Given the description of an element on the screen output the (x, y) to click on. 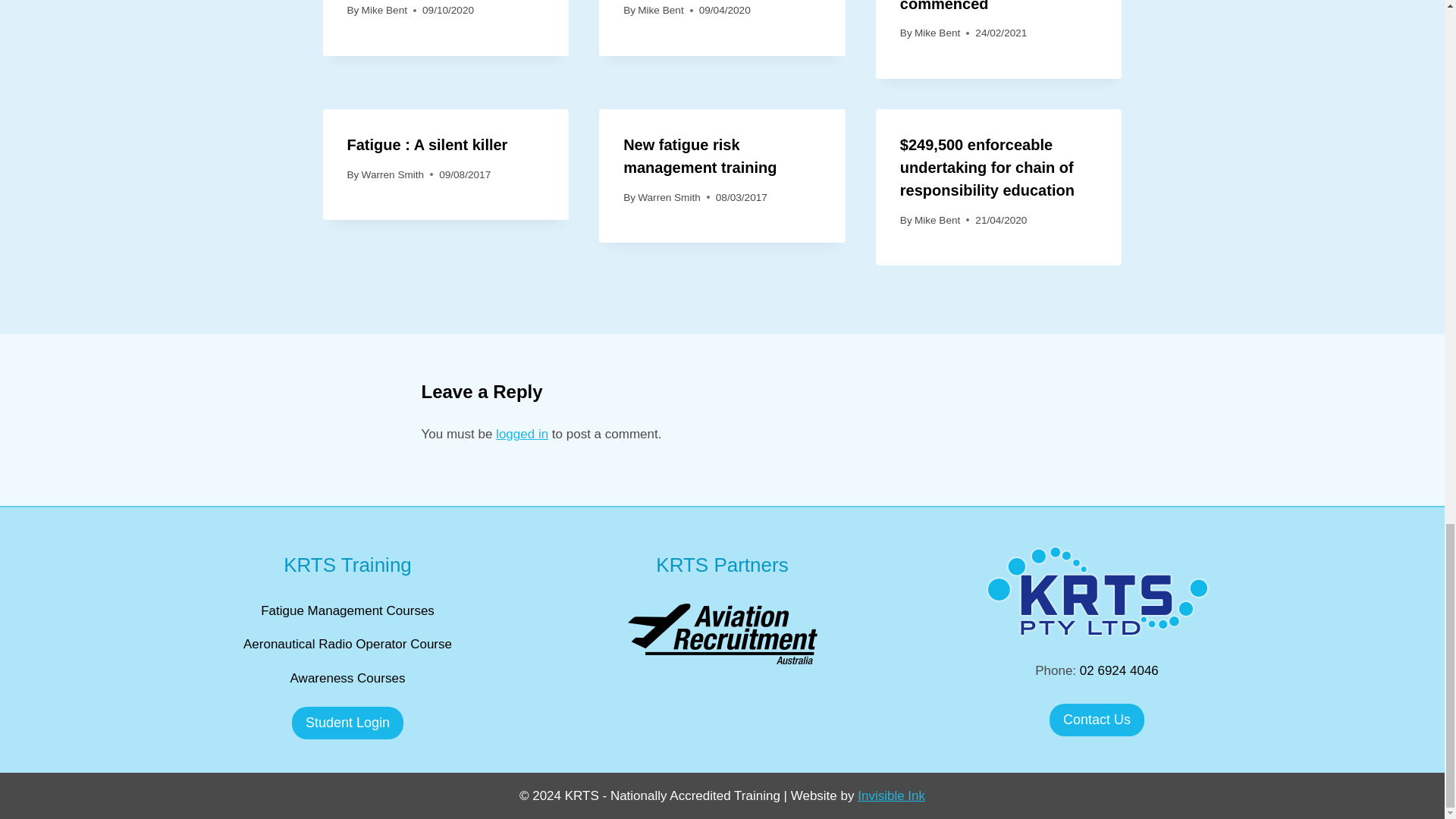
Mike Bent (659, 9)
Mike Bent (384, 9)
